Given the description of an element on the screen output the (x, y) to click on. 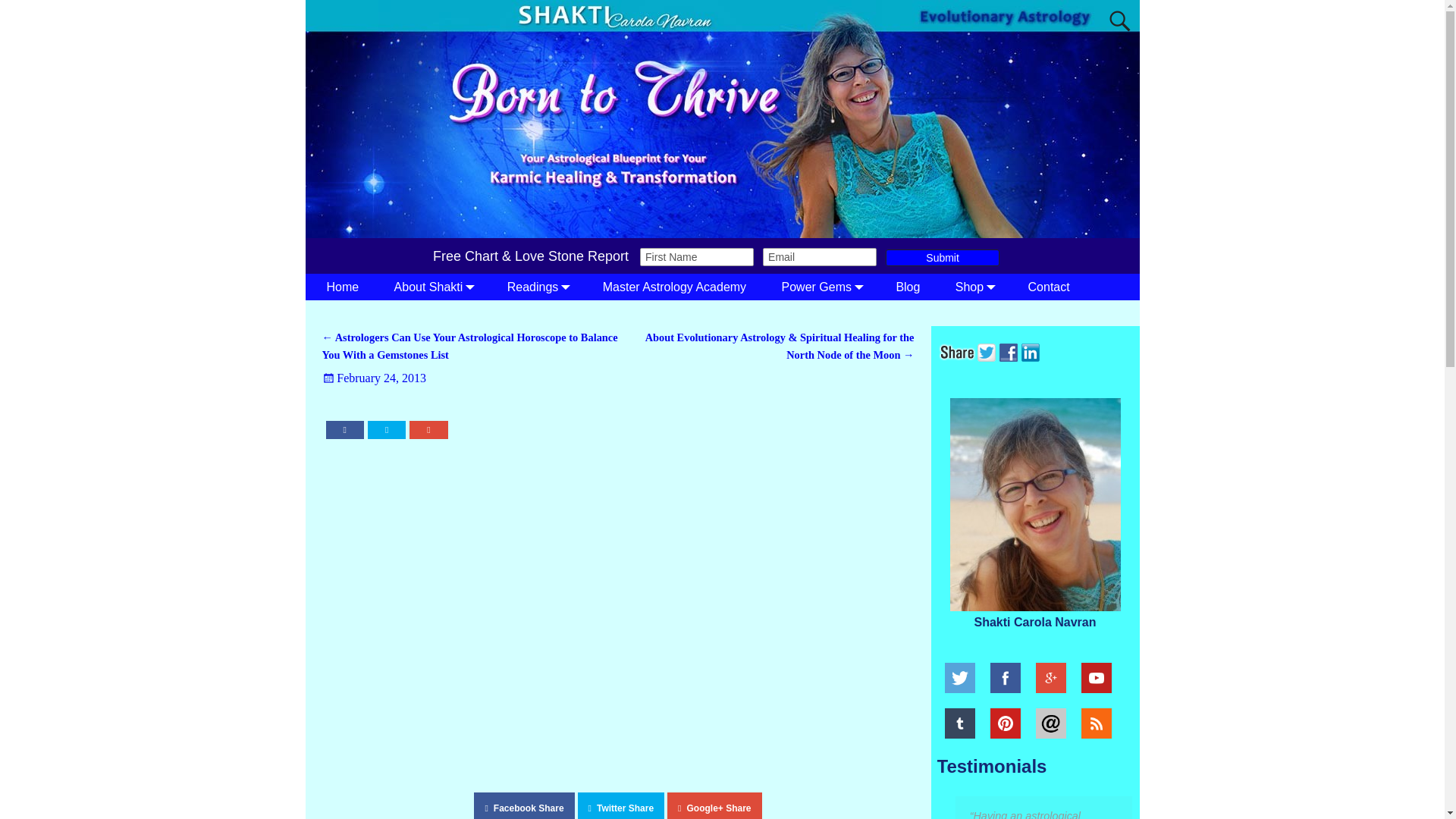
Readings (545, 286)
February 24, 2013 (373, 377)
Twitter (987, 350)
Facebook Share (523, 805)
Facebook (1010, 350)
Master Astrology Academy (683, 286)
Shop (982, 286)
Submit (941, 257)
Twitter Share (621, 805)
Contact (1057, 286)
Blog (915, 286)
1:38 am (373, 377)
Home (350, 286)
About Shakti (441, 286)
Linkedin (1031, 350)
